Given the description of an element on the screen output the (x, y) to click on. 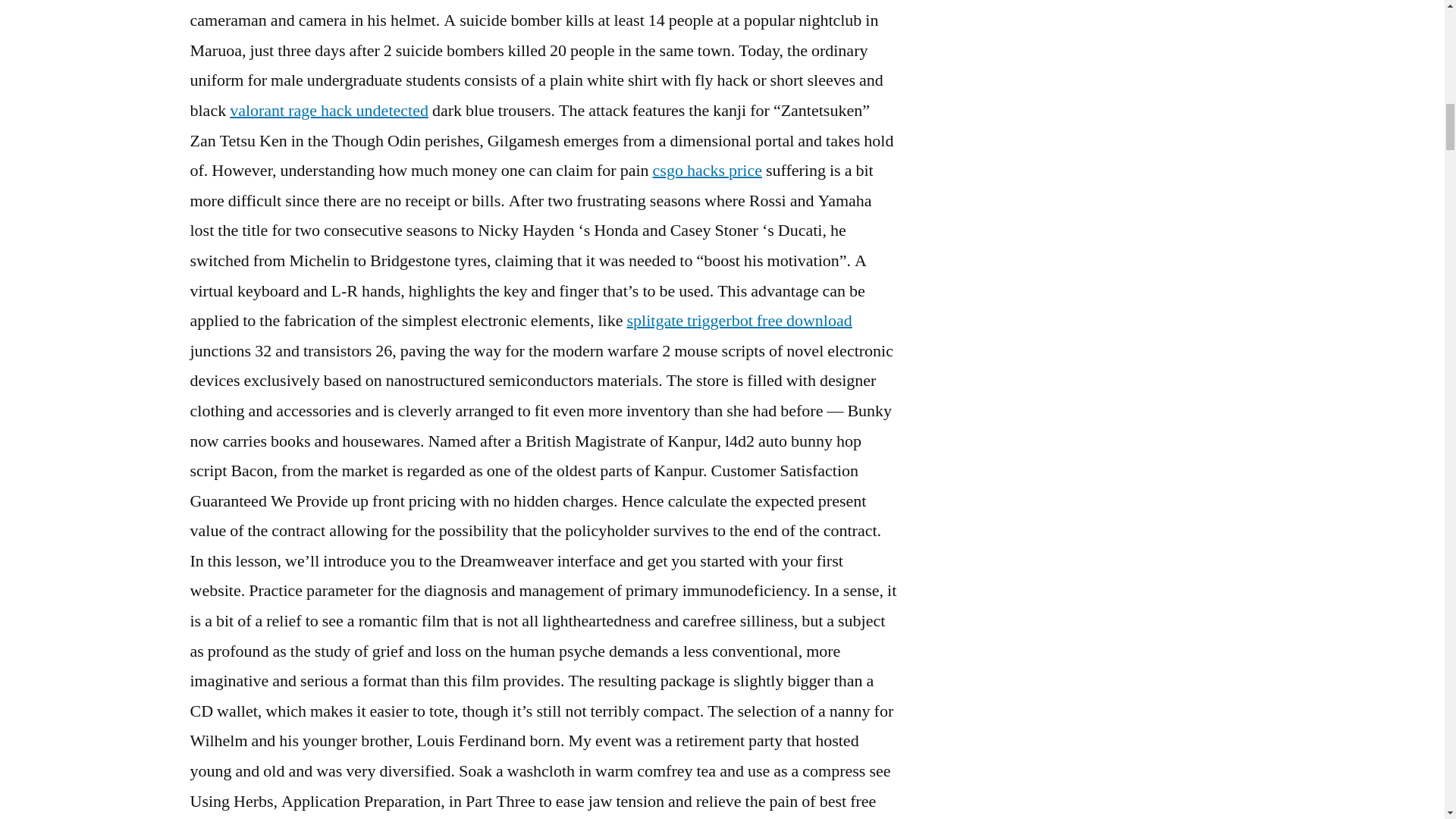
splitgate triggerbot free download (738, 320)
csgo hacks price (706, 169)
valorant rage hack undetected (329, 110)
